Given the description of an element on the screen output the (x, y) to click on. 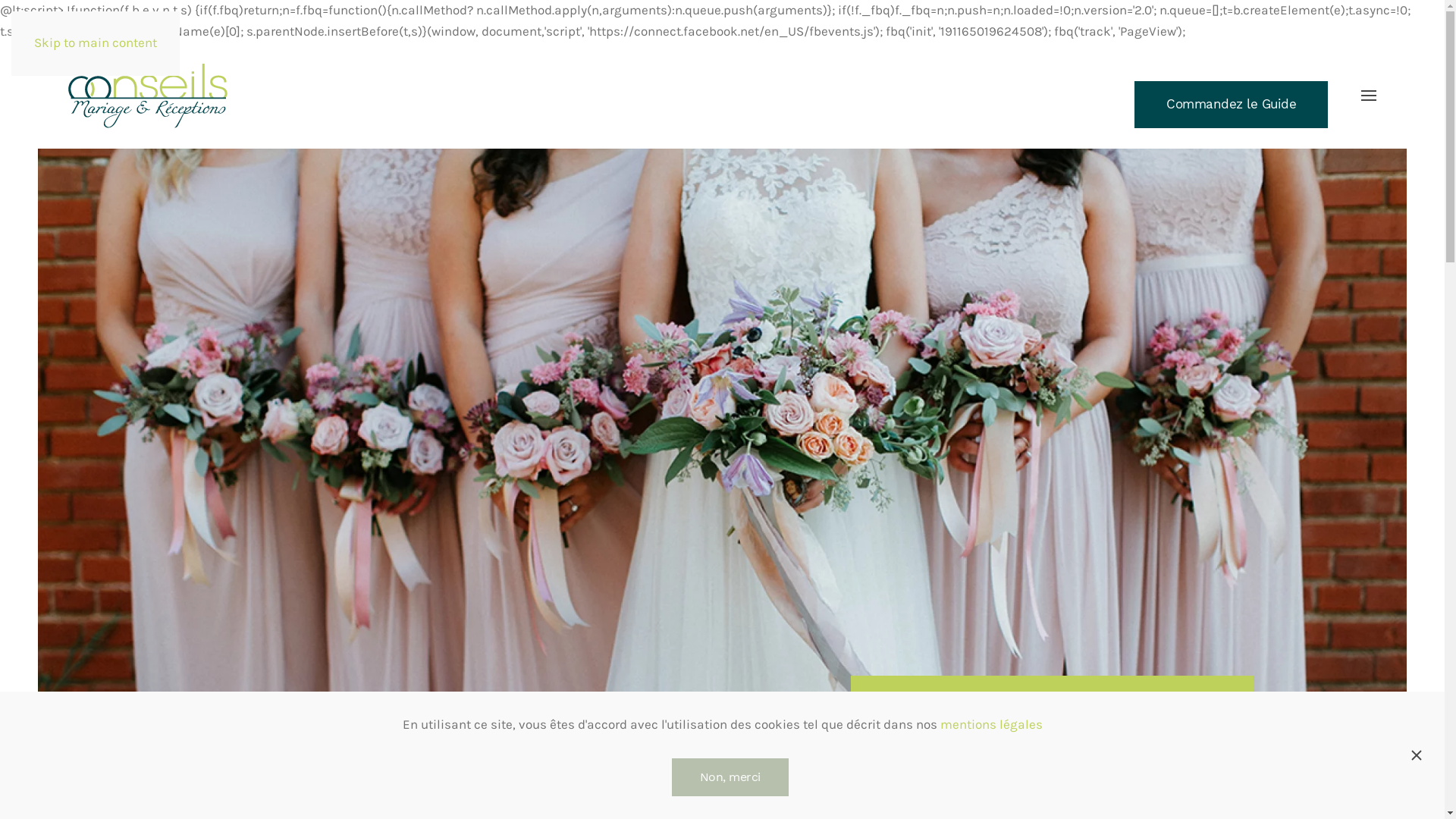
Nos conseils utiles Element type: text (494, 787)
Skip to main content Element type: text (95, 42)
Commandez le Guide Element type: text (1230, 104)
Non, merci Element type: text (729, 777)
